Given the description of an element on the screen output the (x, y) to click on. 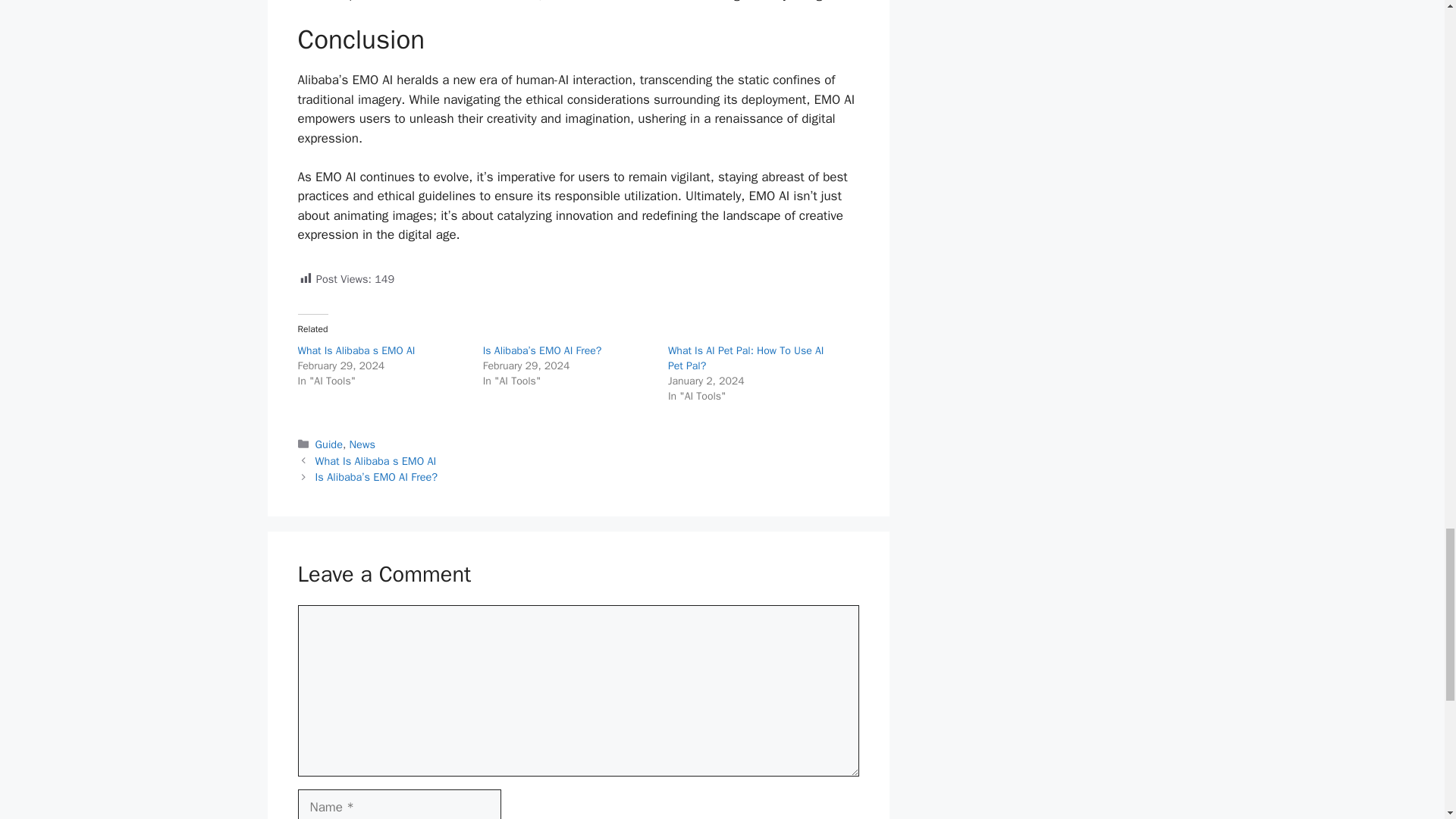
What Is AI Pet Pal: How To Use AI Pet Pal? (746, 357)
News (362, 444)
Guide (328, 444)
What Is Alibaba s EMO AI (355, 350)
What Is Alibaba s EMO AI (375, 460)
